Given the description of an element on the screen output the (x, y) to click on. 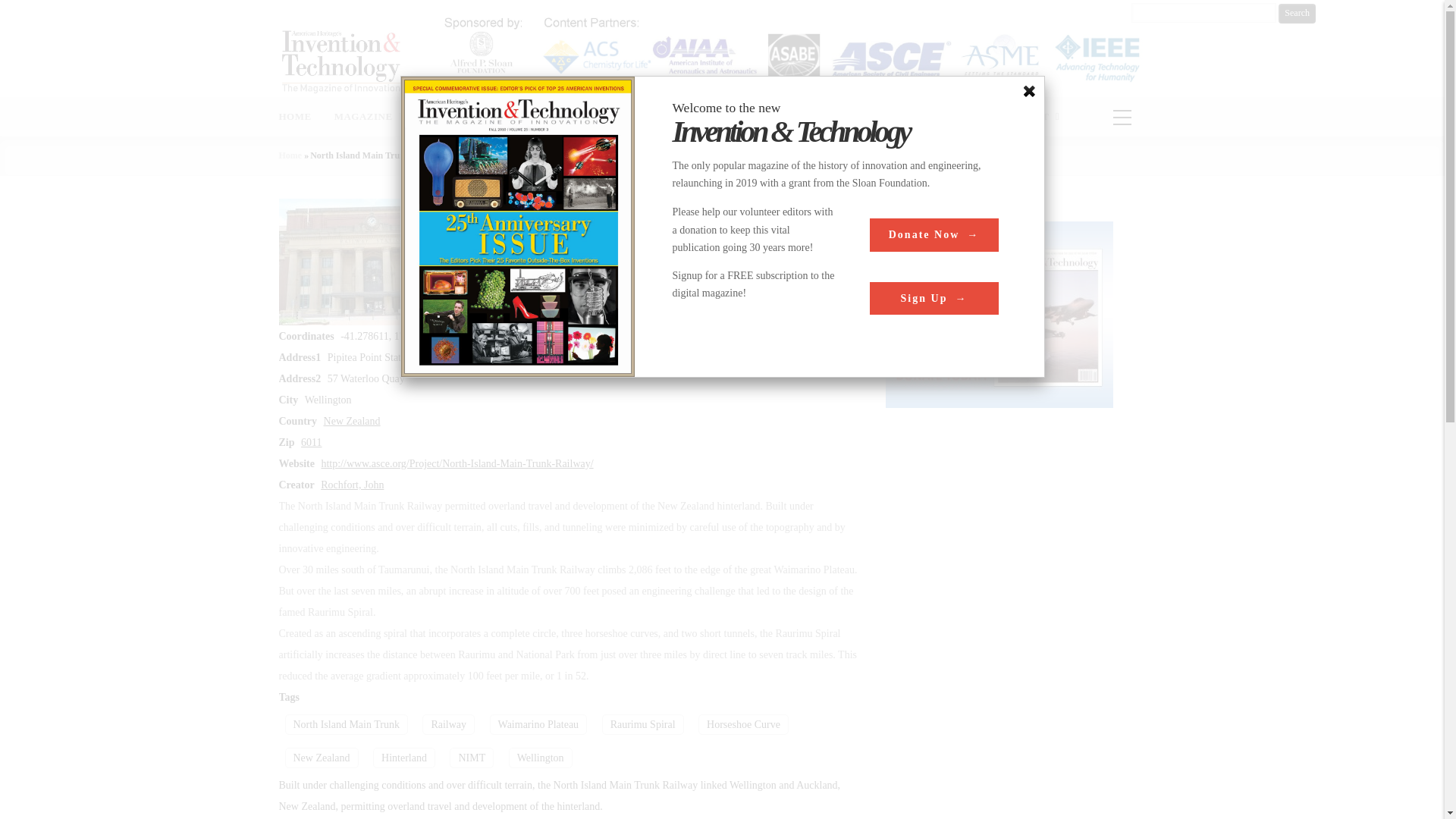
Civil (561, 229)
Search (1297, 13)
Home (343, 60)
New Zealand (351, 420)
Raurimu Spiral (643, 724)
Search (1297, 13)
Railway (448, 724)
Waimarino Plateau (538, 724)
SOCIETIES (875, 116)
MAGAZINE (368, 116)
ABOUT (1036, 116)
SUBJECTS (714, 116)
Rochfort, John (352, 484)
AUTHORS (451, 116)
